Given the description of an element on the screen output the (x, y) to click on. 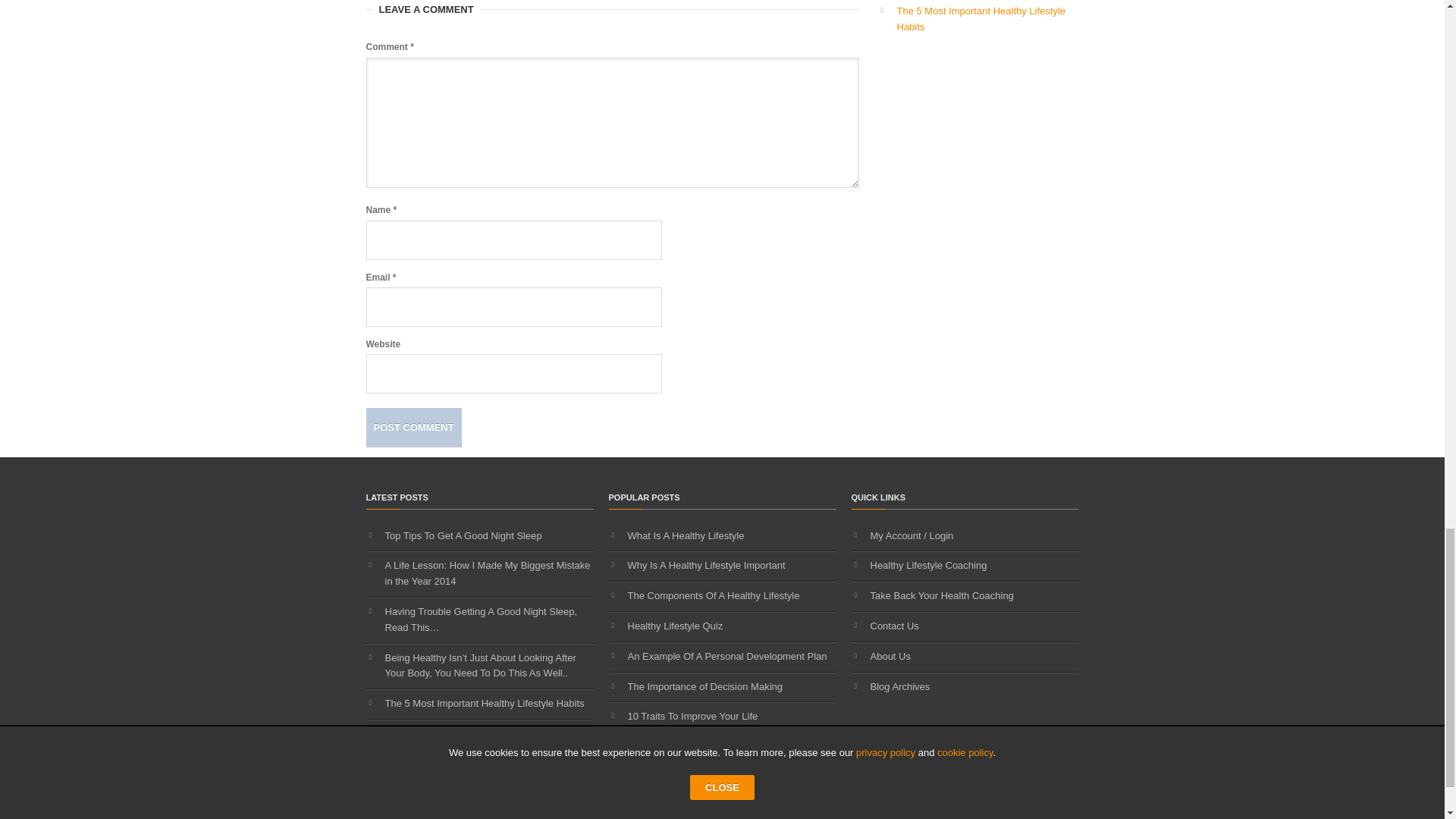
Why Is A Healthy Lifestyle Important (706, 564)
The Components Of A Healthy Lifestyle (713, 595)
The Importance of Decision Making (705, 686)
What Is A Healthy Lifestyle (685, 535)
Post Comment (413, 426)
An Example Of A Personal Development Plan (727, 655)
Healthy Lifestyle Quiz (675, 625)
